Given the description of an element on the screen output the (x, y) to click on. 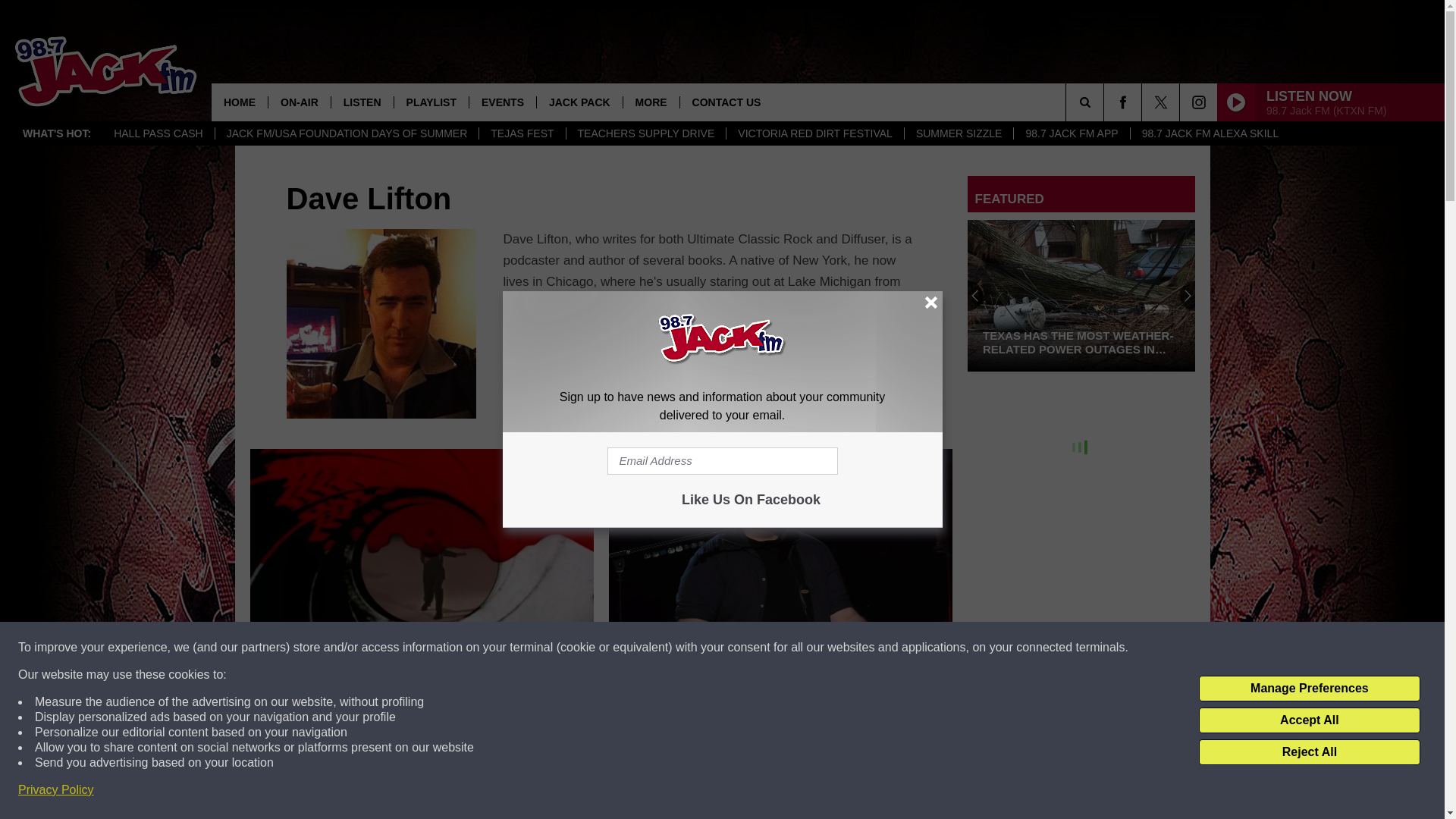
98.7 JACK FM APP (1071, 133)
SUMMER SIZZLE (958, 133)
LISTEN (361, 102)
TEJAS FEST (521, 133)
TEACHERS SUPPLY DRIVE (646, 133)
Reject All (1309, 751)
VICTORIA RED DIRT FESTIVAL (814, 133)
98.7 JACK FM ALEXA SKILL (1209, 133)
WHAT'S HOT: (56, 133)
HALL PASS CASH (157, 133)
CONTACT US (726, 102)
Privacy Policy (55, 789)
Accept All (1309, 720)
PLAYLIST (430, 102)
SEARCH (1106, 102)
